Given the description of an element on the screen output the (x, y) to click on. 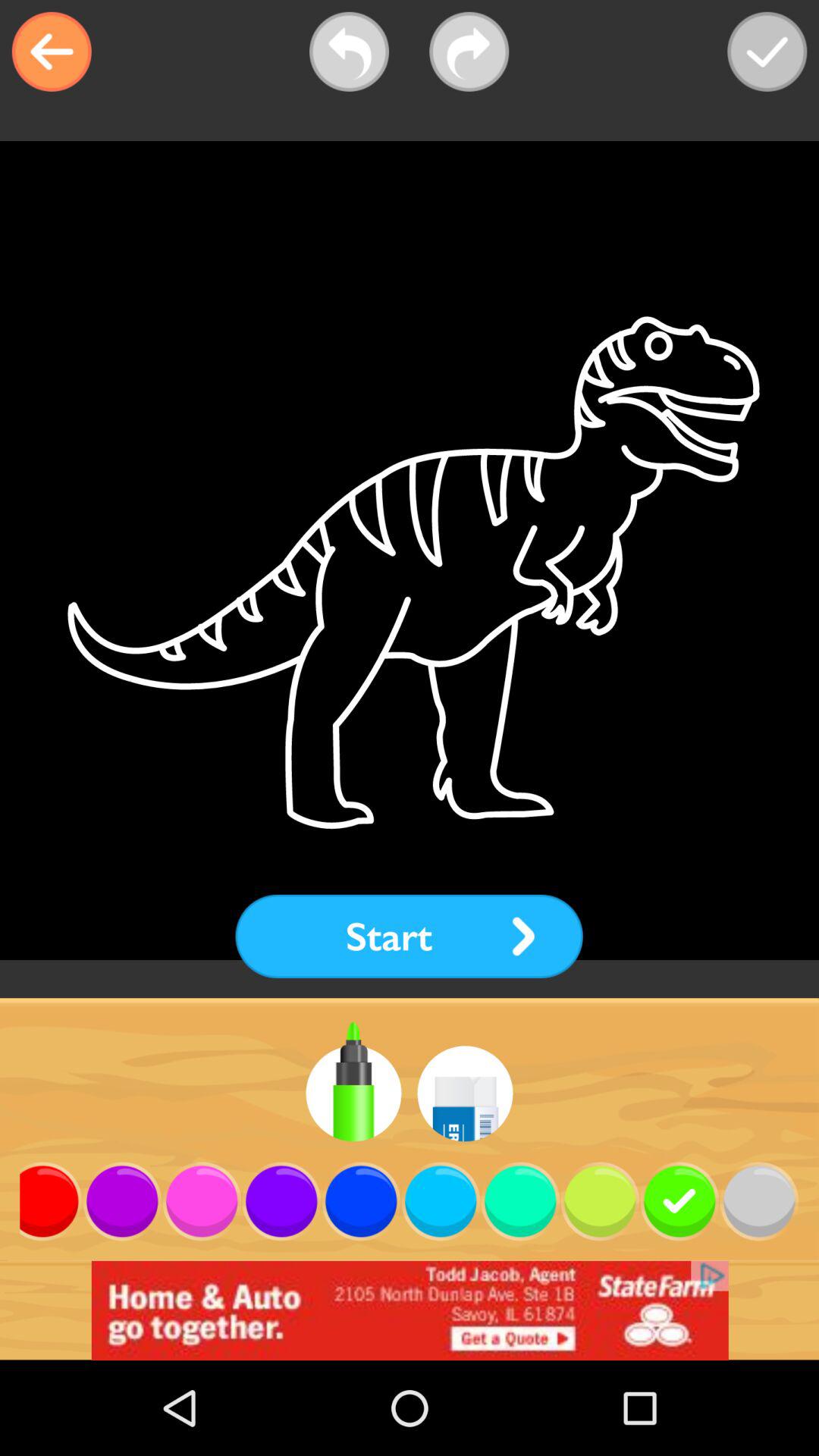
undo (349, 51)
